Given the description of an element on the screen output the (x, y) to click on. 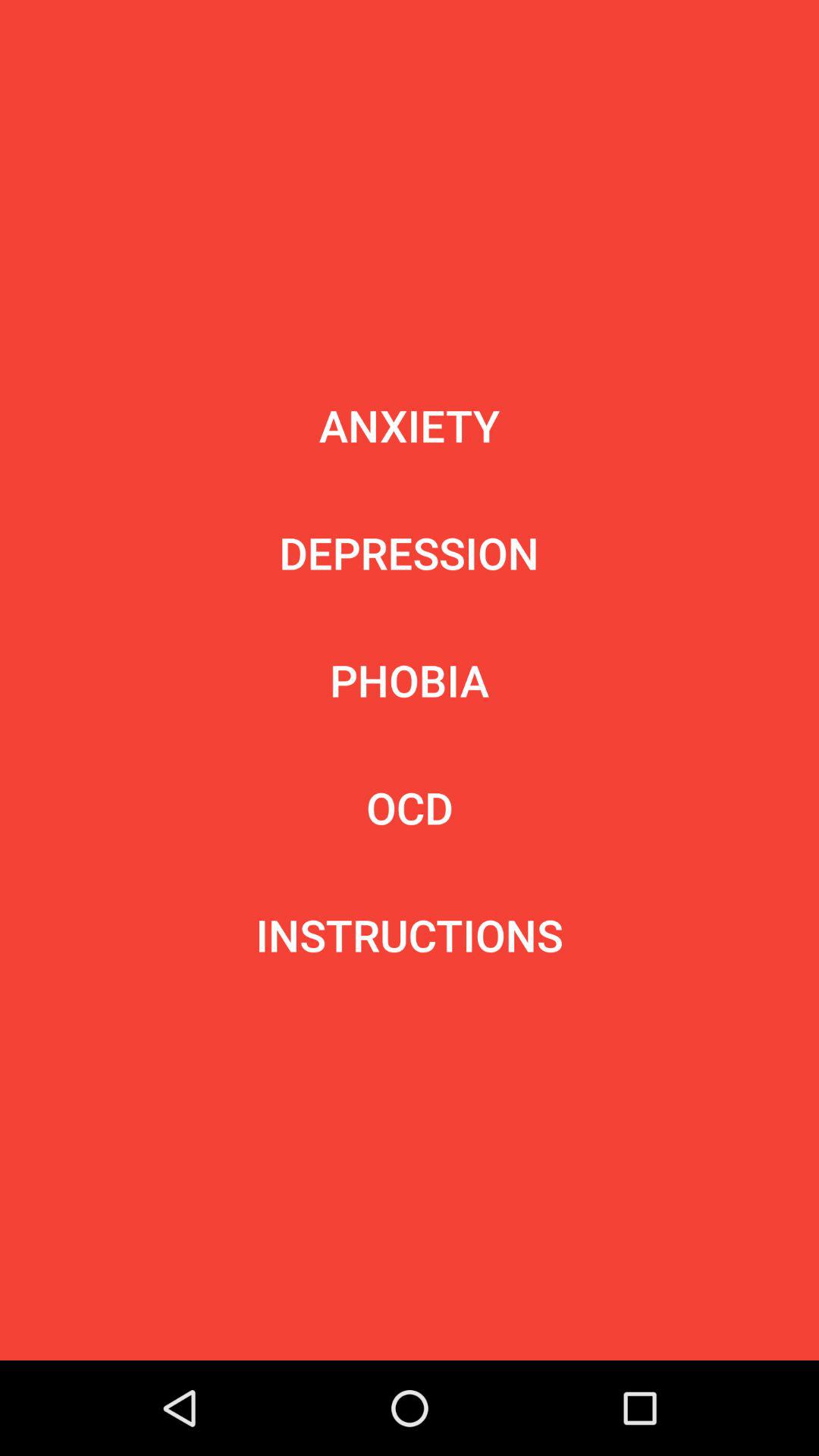
press the anxiety at the top (409, 425)
